Given the description of an element on the screen output the (x, y) to click on. 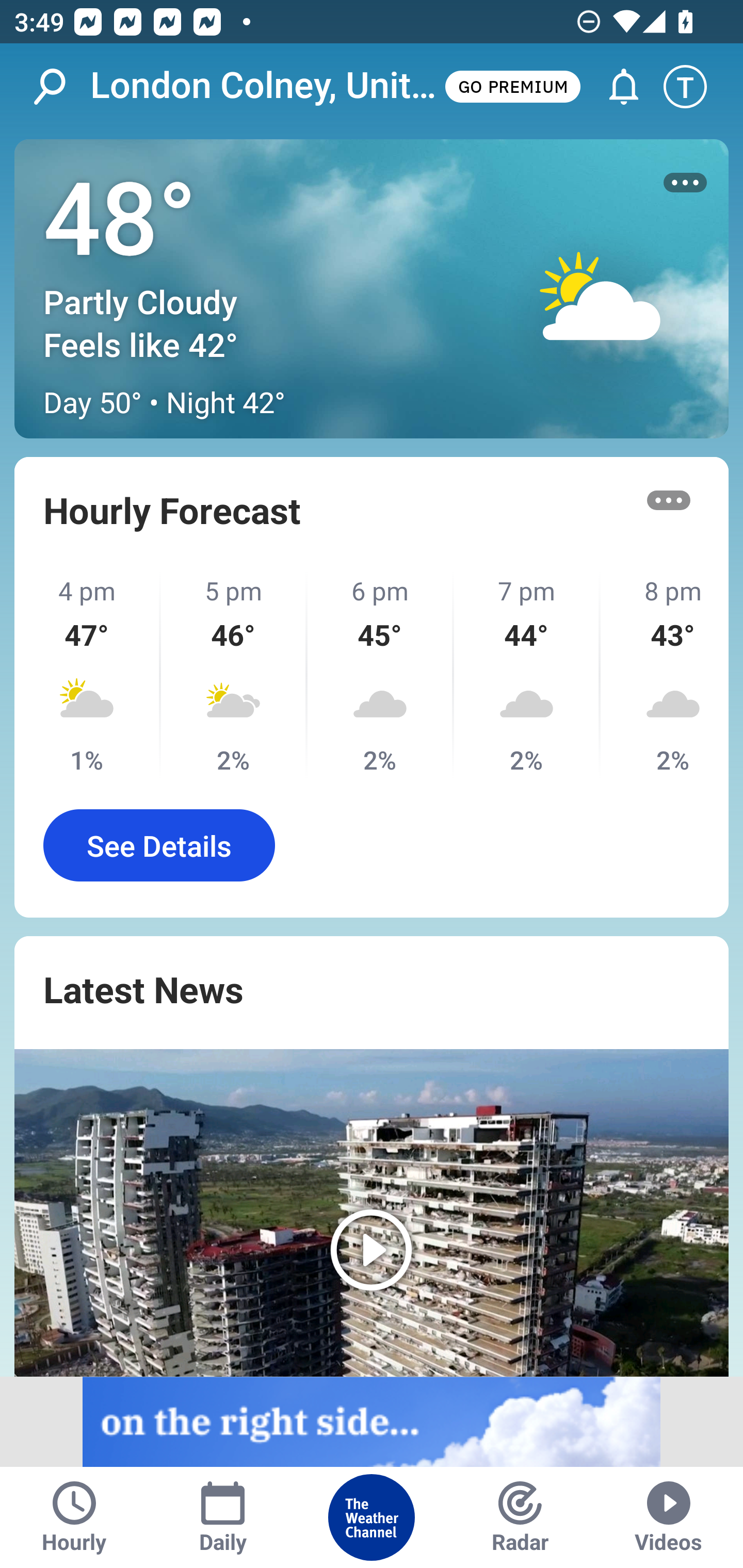
Search (59, 86)
Go to Alerts and Notifications (614, 86)
Setting icon T (694, 86)
London Colney, United Kingdom (265, 85)
GO PREMIUM (512, 85)
More options (684, 182)
More options (668, 500)
4 pm 47° 1% (87, 674)
5 pm 46° 2% (234, 674)
6 pm 45° 2% (380, 674)
7 pm 44° 2% (526, 674)
8 pm 43° 2% (664, 674)
See Details (158, 845)
Play (371, 1212)
newsletter?cm_ven=House_NewsletterCloud_11072022_1 (371, 1421)
Hourly Tab Hourly (74, 1517)
Daily Tab Daily (222, 1517)
Radar Tab Radar (519, 1517)
Videos Tab Videos (668, 1517)
